Given the description of an element on the screen output the (x, y) to click on. 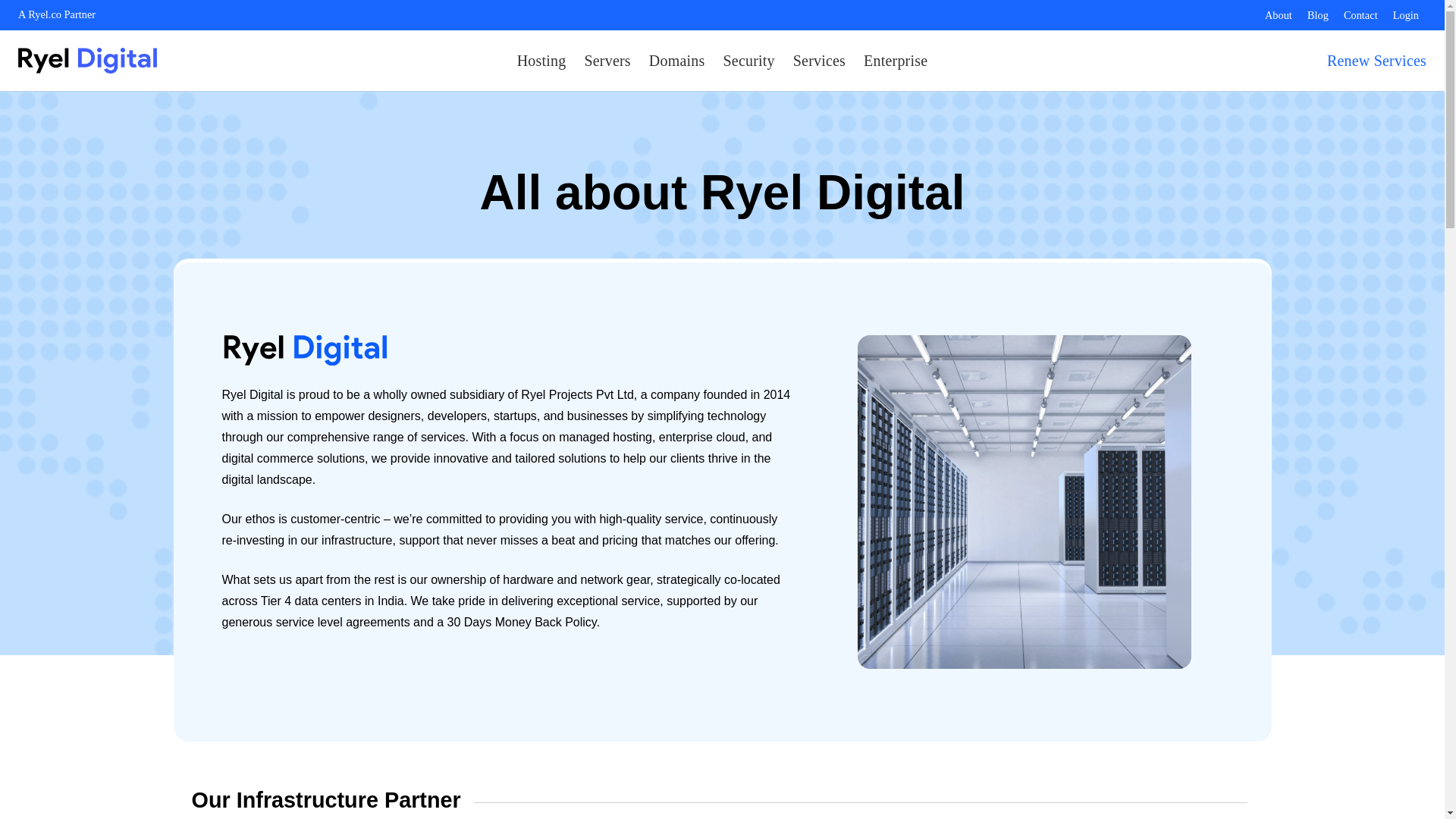
Renew Services (1376, 60)
Enterprise (895, 60)
Domains (677, 60)
Blog (1318, 15)
Hosting (541, 60)
A Ryel.co Partner (56, 14)
About (1278, 15)
Services (819, 60)
Login (1406, 15)
Servers (607, 60)
